Given the description of an element on the screen output the (x, y) to click on. 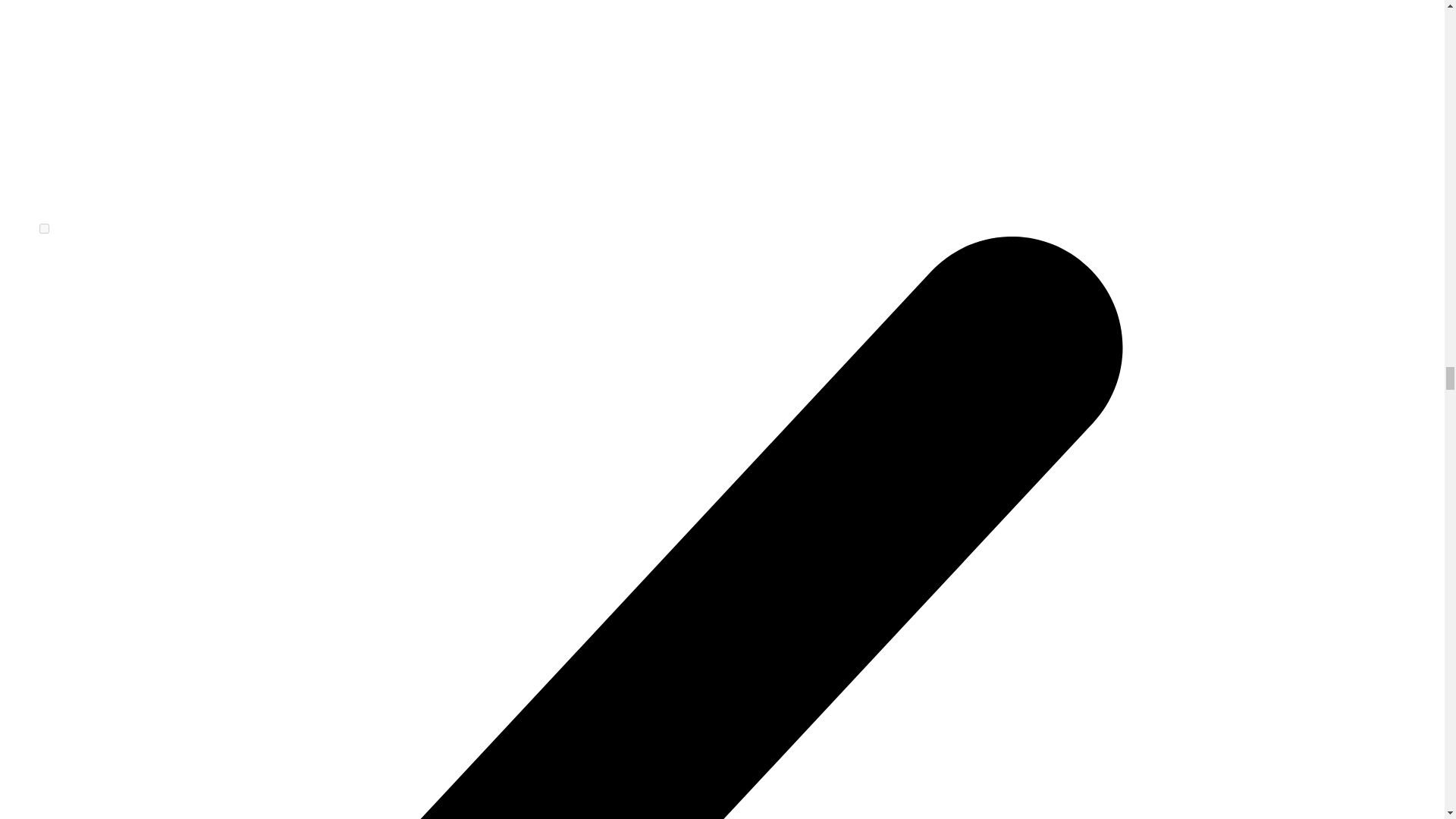
on (44, 228)
